Given the description of an element on the screen output the (x, y) to click on. 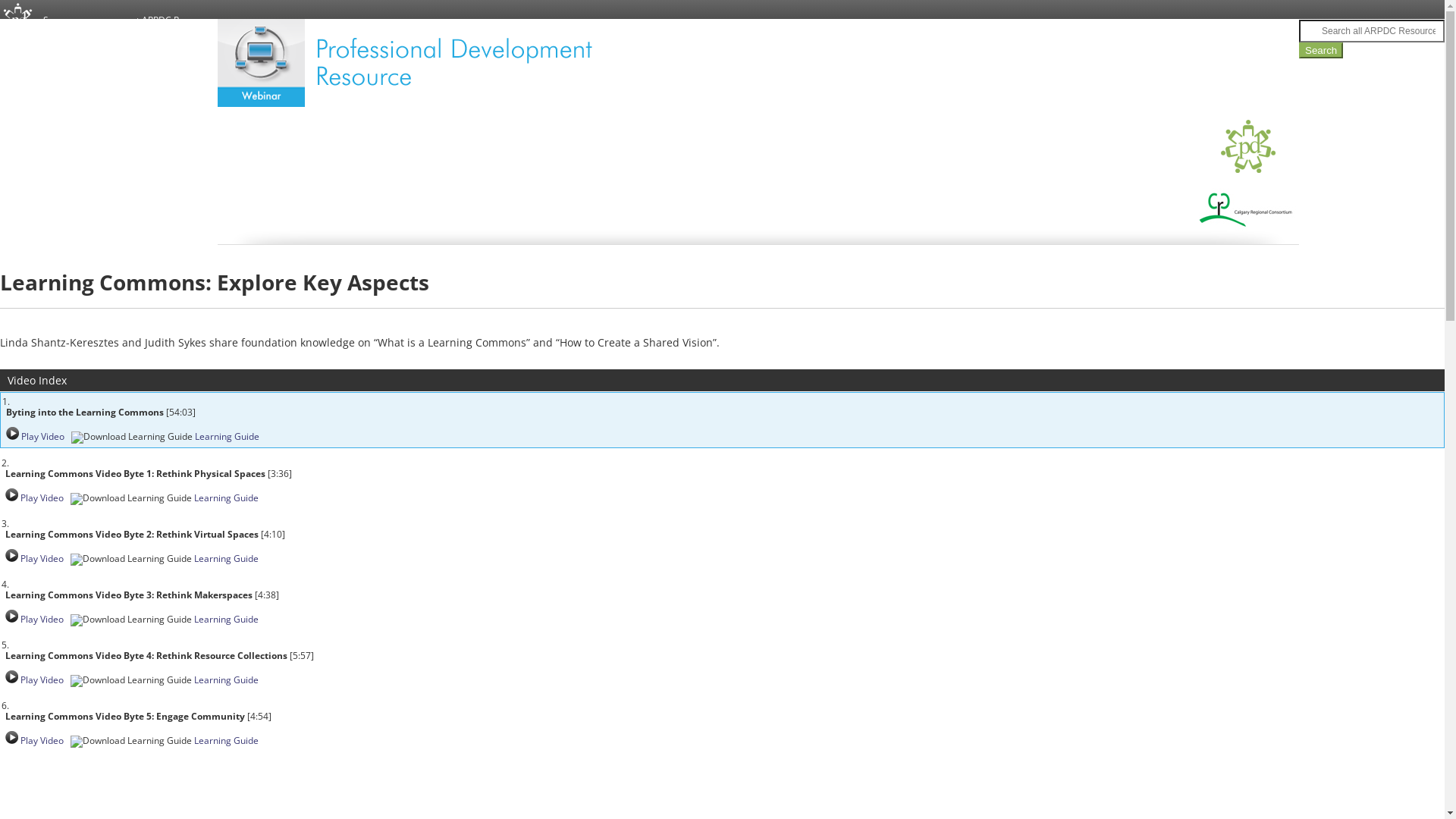
Play Video Element type: text (41, 679)
Learning Guide Element type: text (226, 435)
Search Element type: text (1321, 50)
See more resources at ARPDC Resources Element type: text (130, 20)
Play Video Element type: hover (11, 676)
Learning Guide Element type: text (226, 740)
Play Video Element type: text (41, 497)
Play Video Element type: text (41, 618)
Download Learning Guide Element type: hover (130, 498)
search Element type: hover (1309, 26)
Learning Guide Element type: text (226, 558)
Play Video Element type: hover (12, 432)
Download Learning Guide Element type: hover (130, 680)
Download Learning Guide Element type: hover (131, 437)
Learning Guide Element type: text (226, 679)
Download Learning Guide Element type: hover (130, 559)
Learning Guide Element type: text (226, 618)
Play Video Element type: text (41, 558)
Download Learning Guide Element type: hover (130, 620)
Learning Guide Element type: text (226, 497)
Play Video Element type: text (41, 740)
Play Video Element type: text (42, 435)
Play Video Element type: hover (11, 615)
Play Video Element type: hover (11, 555)
Play Video Element type: hover (11, 737)
Play Video Element type: hover (11, 494)
Download Learning Guide Element type: hover (130, 741)
